Given the description of an element on the screen output the (x, y) to click on. 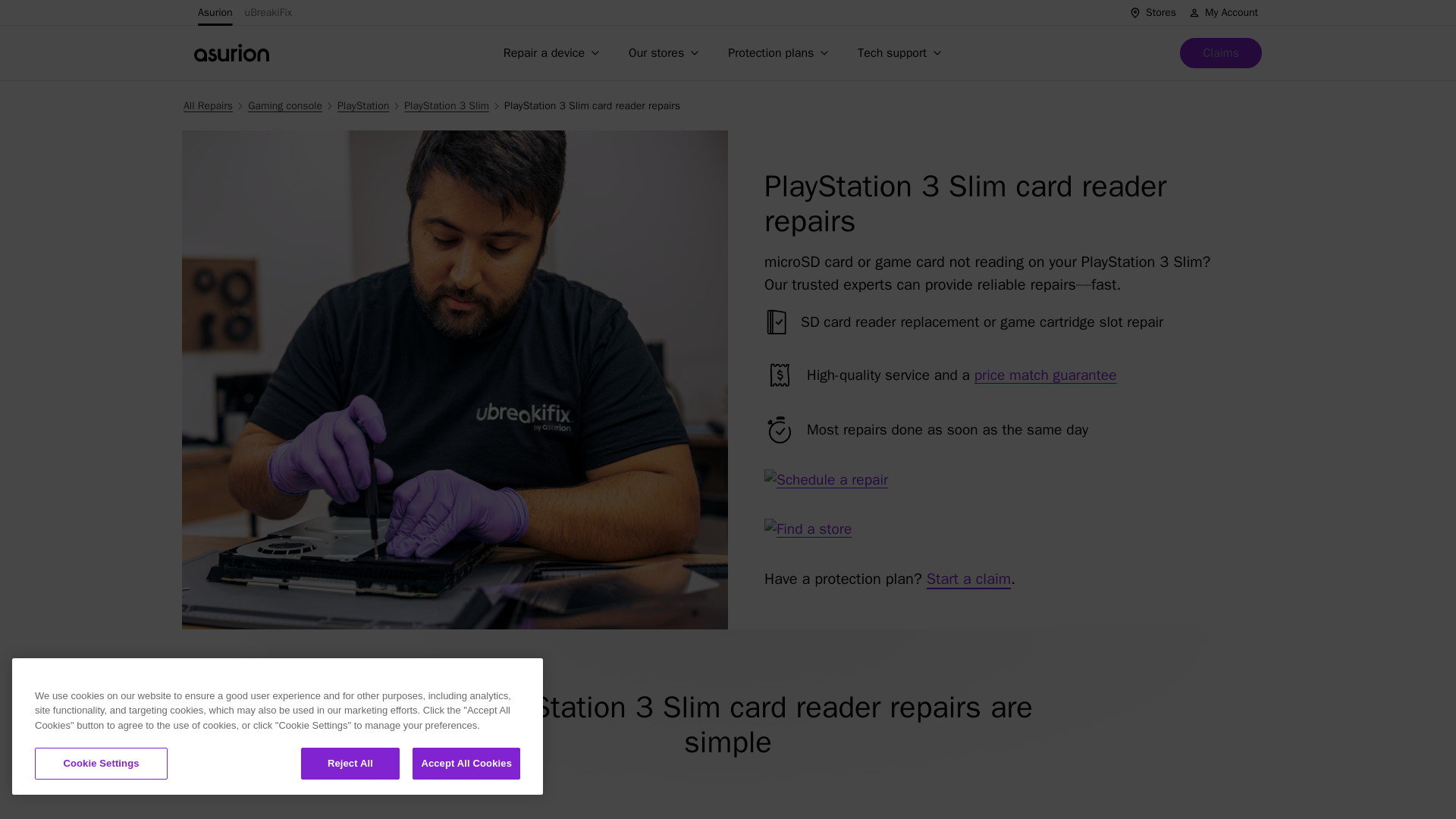
Protection plans (780, 52)
Stores (1152, 12)
My Account (1222, 12)
Claims (1220, 52)
Repair a device (553, 52)
uBreakiFix (268, 12)
Tech support (901, 52)
Our stores (665, 52)
Asurion (215, 12)
